Given the description of an element on the screen output the (x, y) to click on. 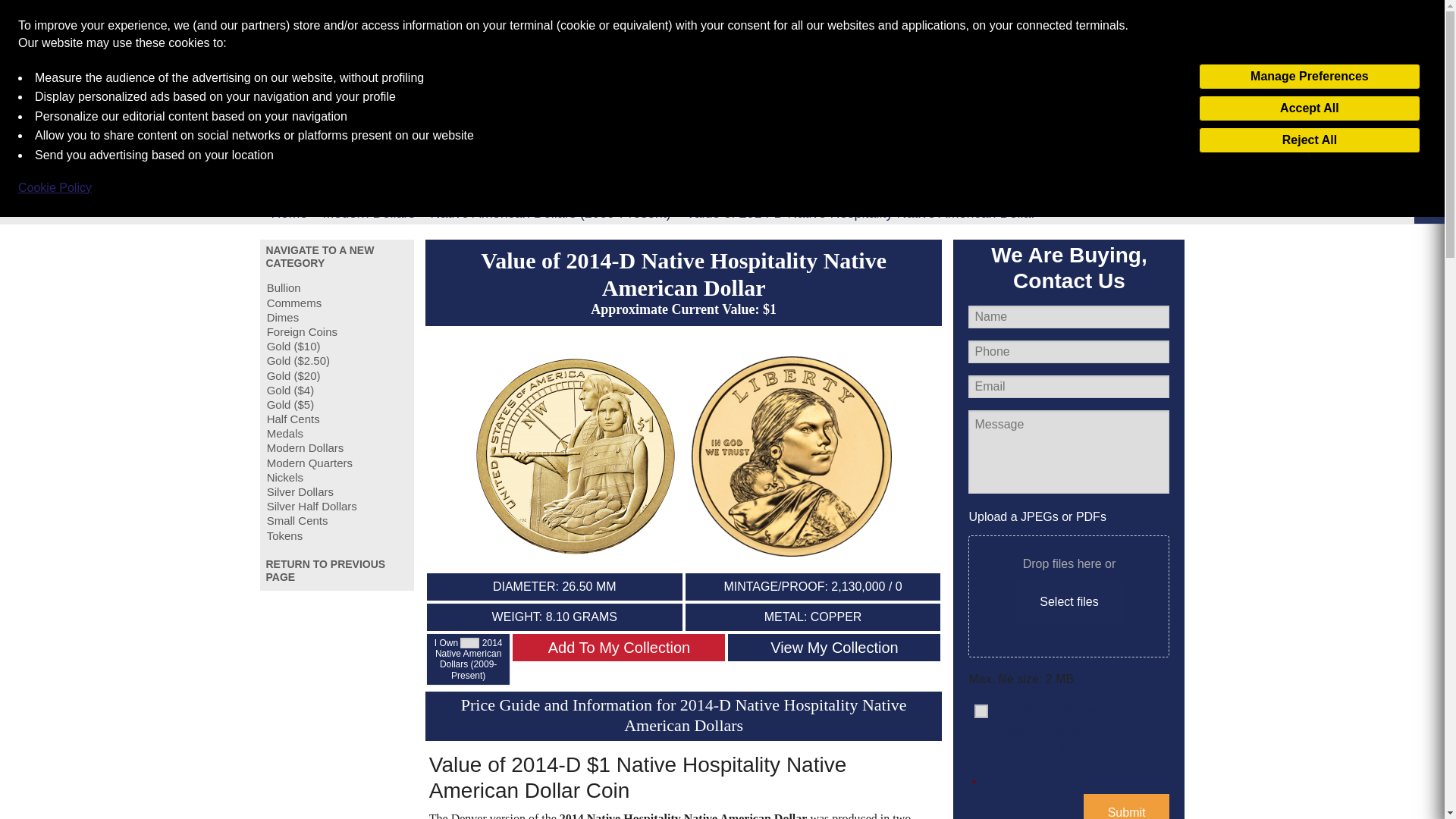
Nickels (336, 477)
Search (1144, 98)
ABOUT (357, 99)
SIGN IN (1114, 21)
EXPERTS (777, 99)
Medals (336, 432)
Small Cents (336, 520)
LEARNING CENTER (537, 99)
Half Cents (336, 418)
Dimes (336, 317)
